Given the description of an element on the screen output the (x, y) to click on. 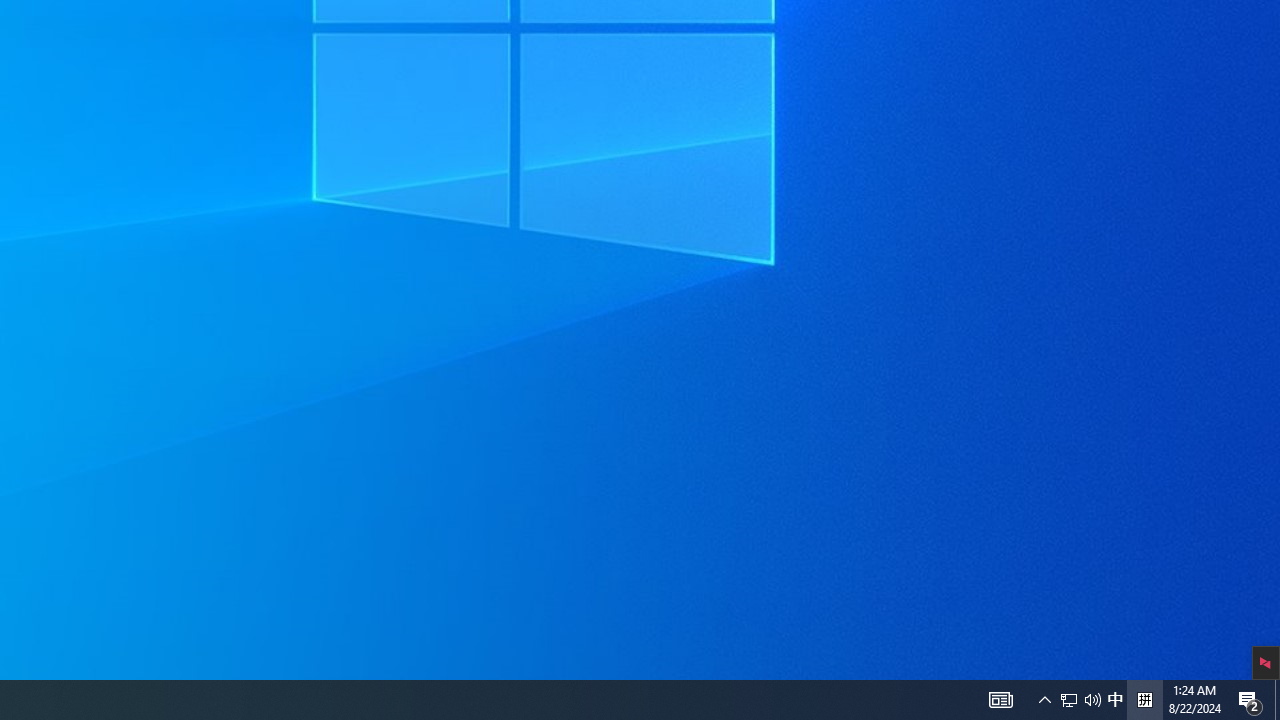
Show desktop (1277, 699)
User Promoted Notification Area (1080, 699)
Action Center, 2 new notifications (1115, 699)
Q2790: 100% (1250, 699)
Tray Input Indicator - Chinese (Simplified, China) (1069, 699)
Notification Chevron (1092, 699)
AutomationID: 4105 (1144, 699)
